Given the description of an element on the screen output the (x, y) to click on. 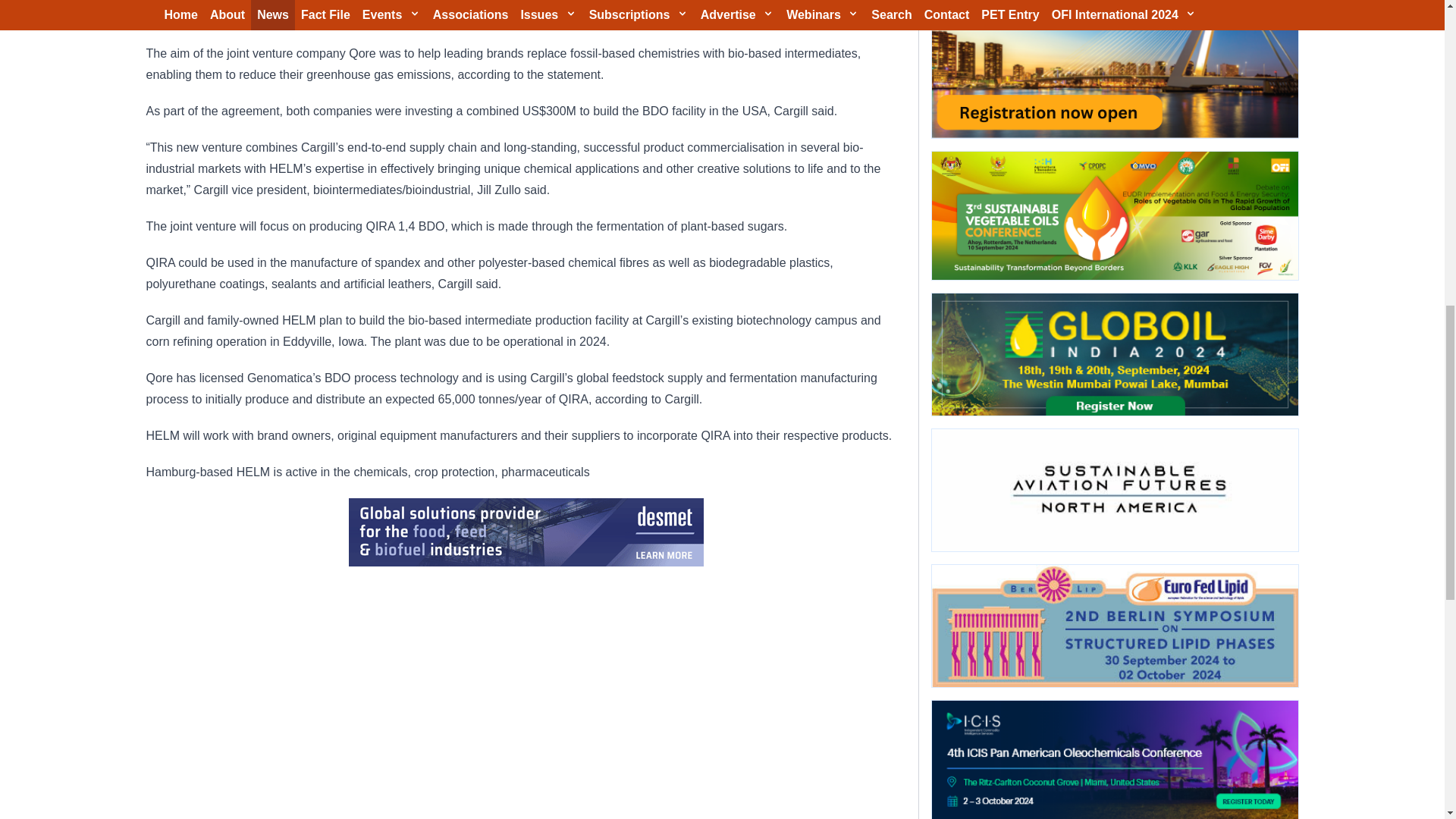
2nd Berlin Symposium 2024 (1114, 626)
Desmet 2022-4 footer banner (525, 531)
OFI International 2024 (1114, 69)
Globoil 2024 (1114, 354)
3rd Sustainable Vegetable Oil Conference (1114, 215)
Sustainable Aviation Futures North America Congress (1114, 490)
ICIS Pan American Oleochemicals Conference (1114, 760)
